Given the description of an element on the screen output the (x, y) to click on. 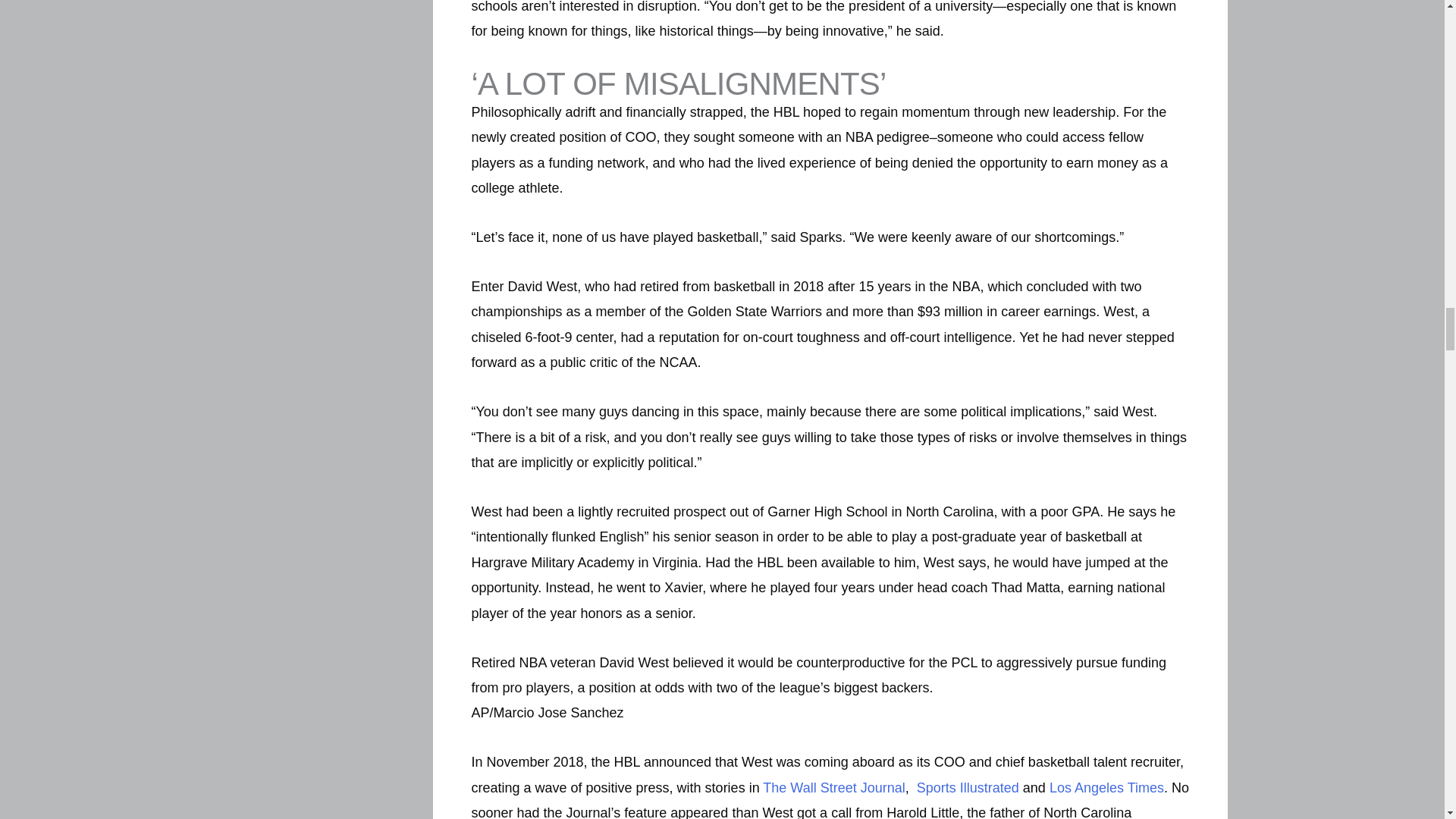
The Wall Street Journal (833, 787)
Sports Illustrated (968, 787)
Los Angeles Times (1106, 787)
